Given the description of an element on the screen output the (x, y) to click on. 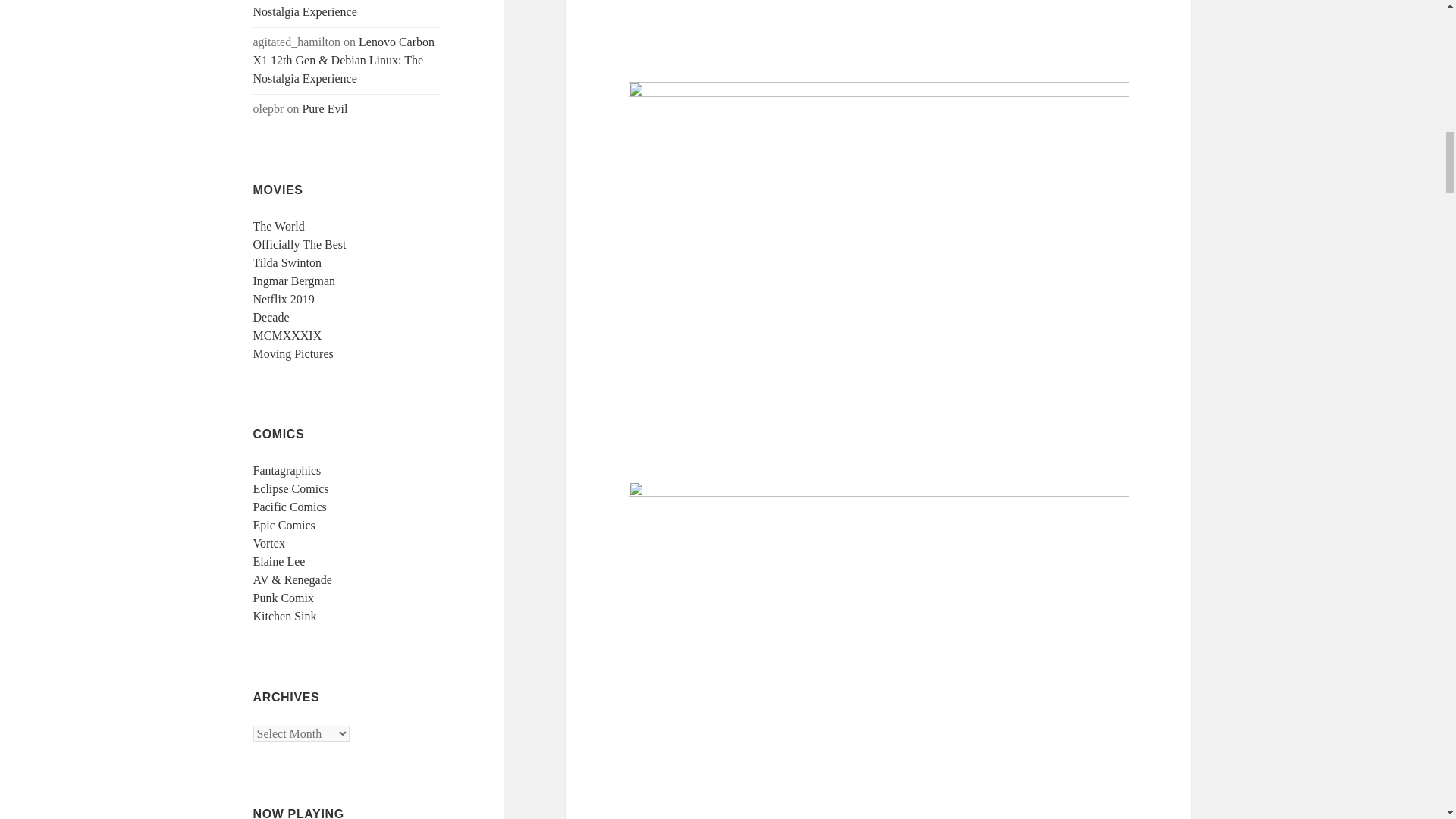
Moving Pictures (293, 353)
Epic Comics (284, 524)
The World (278, 226)
Eclipse Comics (291, 488)
Pacific Comics (289, 506)
Vortex (269, 543)
Ingmar Bergman (294, 280)
Pure Evil (324, 108)
Officially The Best (299, 244)
MCMXXXIX (287, 335)
